Given the description of an element on the screen output the (x, y) to click on. 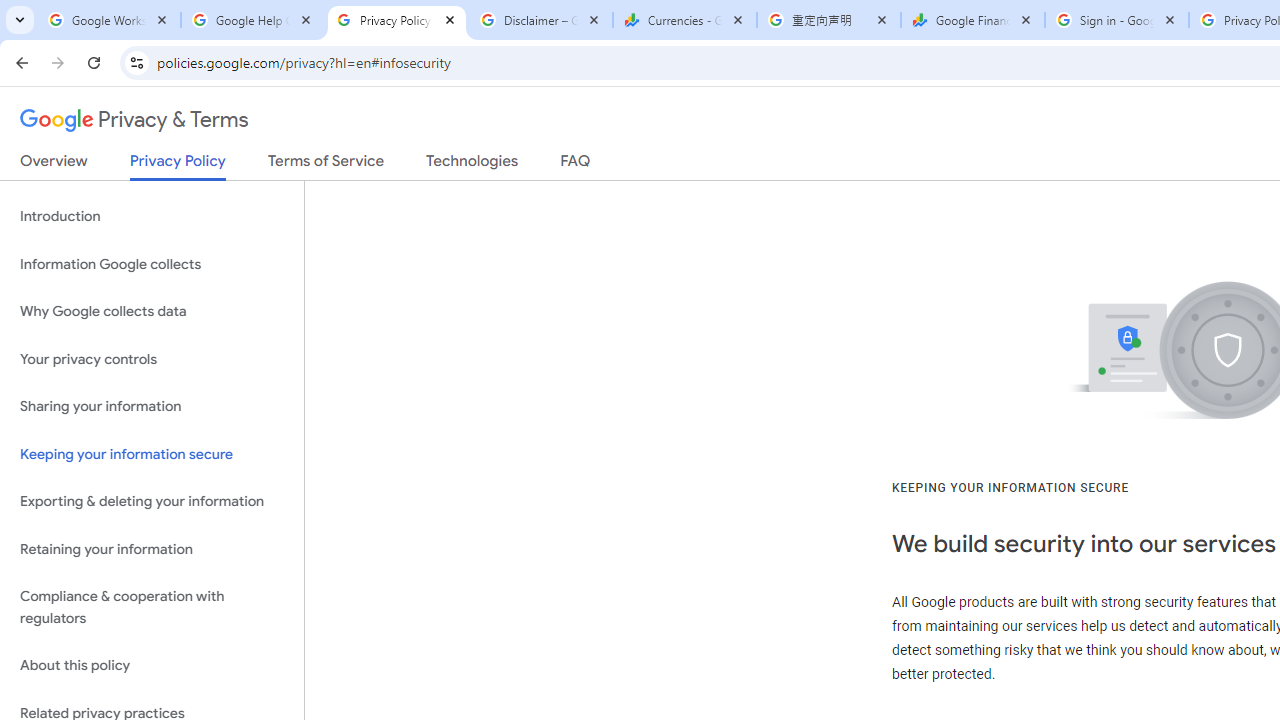
Currencies - Google Finance (684, 20)
